Given the description of an element on the screen output the (x, y) to click on. 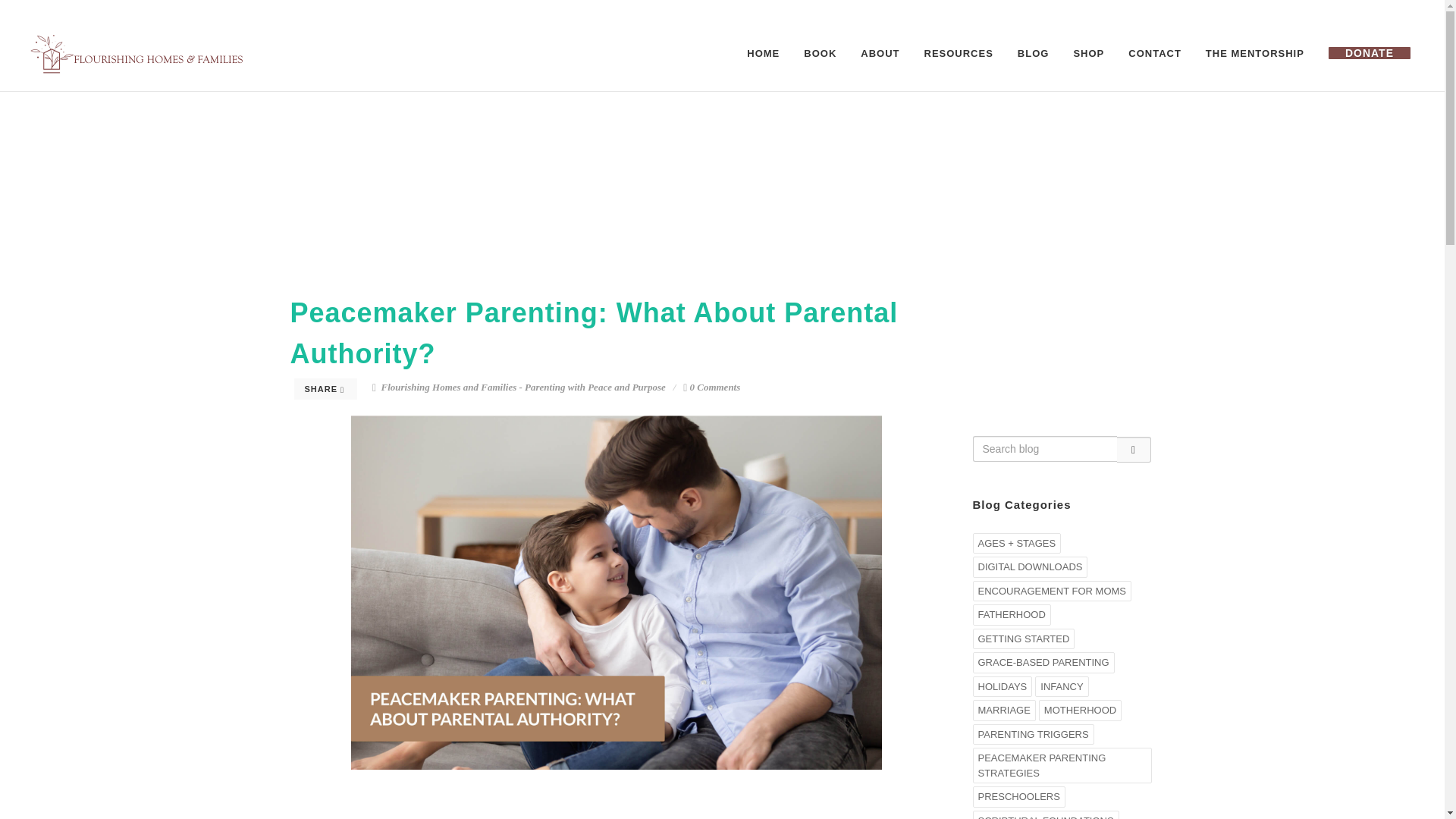
CONTACT (1154, 53)
SHARE (326, 388)
THE MENTORSHIP (1254, 53)
DONATE (1369, 53)
0 Comments (710, 387)
Peacemaker Parenting: What About Parental Authority? (593, 333)
RESOURCES (958, 53)
ENCOURAGEMENT FOR MOMS (1051, 590)
GETTING STARTED (1023, 638)
FATHERHOOD (1010, 614)
